Given the description of an element on the screen output the (x, y) to click on. 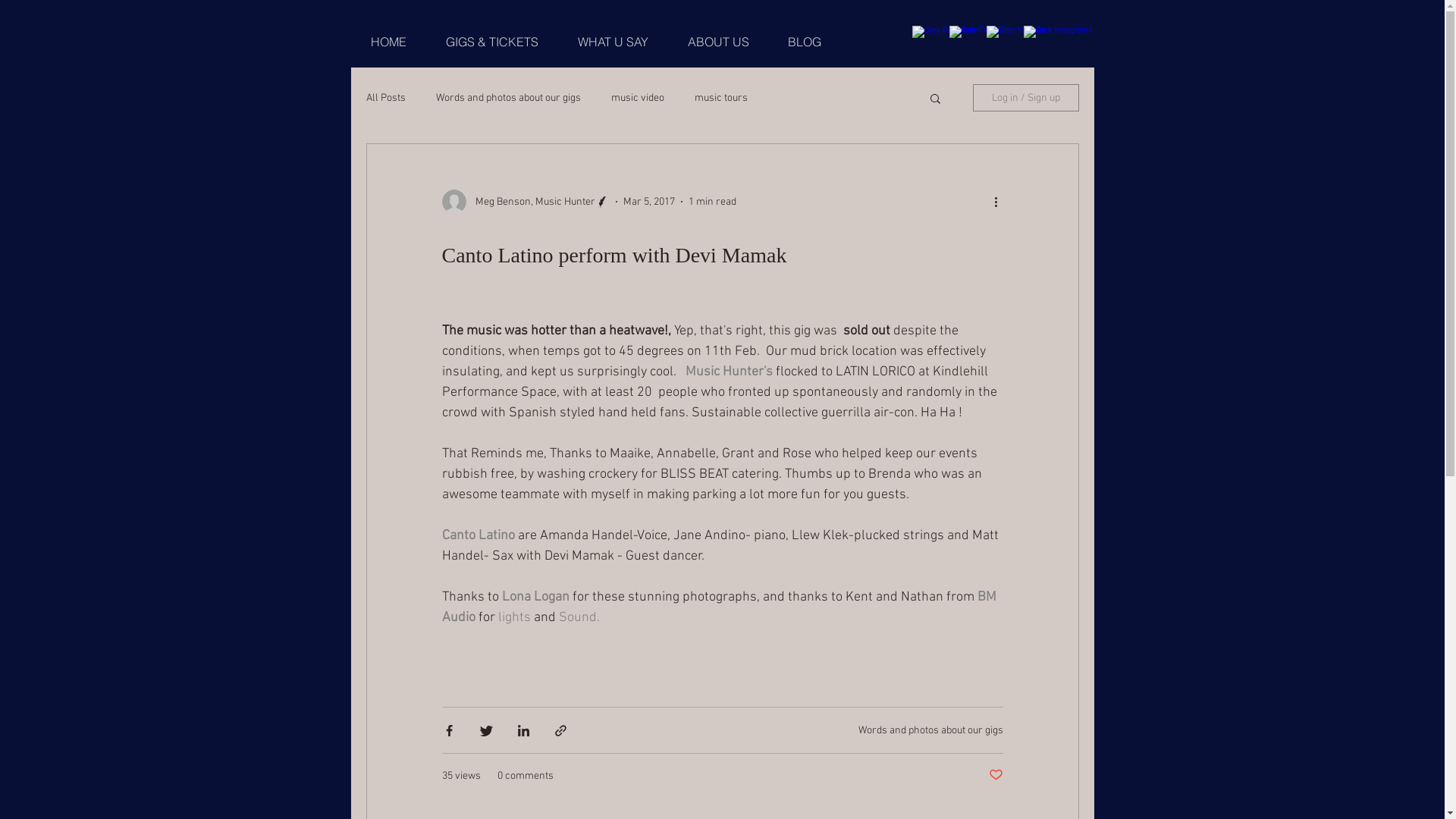
Lona Logan Element type: text (535, 597)
music tours Element type: text (720, 97)
Words and photos about our gigs Element type: text (930, 729)
ABOUT US Element type: text (717, 41)
All Posts Element type: text (384, 97)
BLOG Element type: text (804, 41)
music video Element type: text (637, 97)
Sound. Element type: text (578, 617)
HOME Element type: text (387, 41)
Words and photos about our gigs Element type: text (507, 97)
Log in / Sign up Element type: text (1025, 97)
GIGS & TICKETS Element type: text (492, 41)
BM Audio Element type: text (719, 607)
lights  Element type: text (515, 617)
Post not marked as liked Element type: text (995, 775)
Canto Latino Element type: text (477, 535)
WHAT U SAY Element type: text (613, 41)
Music Hunter's Element type: text (728, 371)
